Given the description of an element on the screen output the (x, y) to click on. 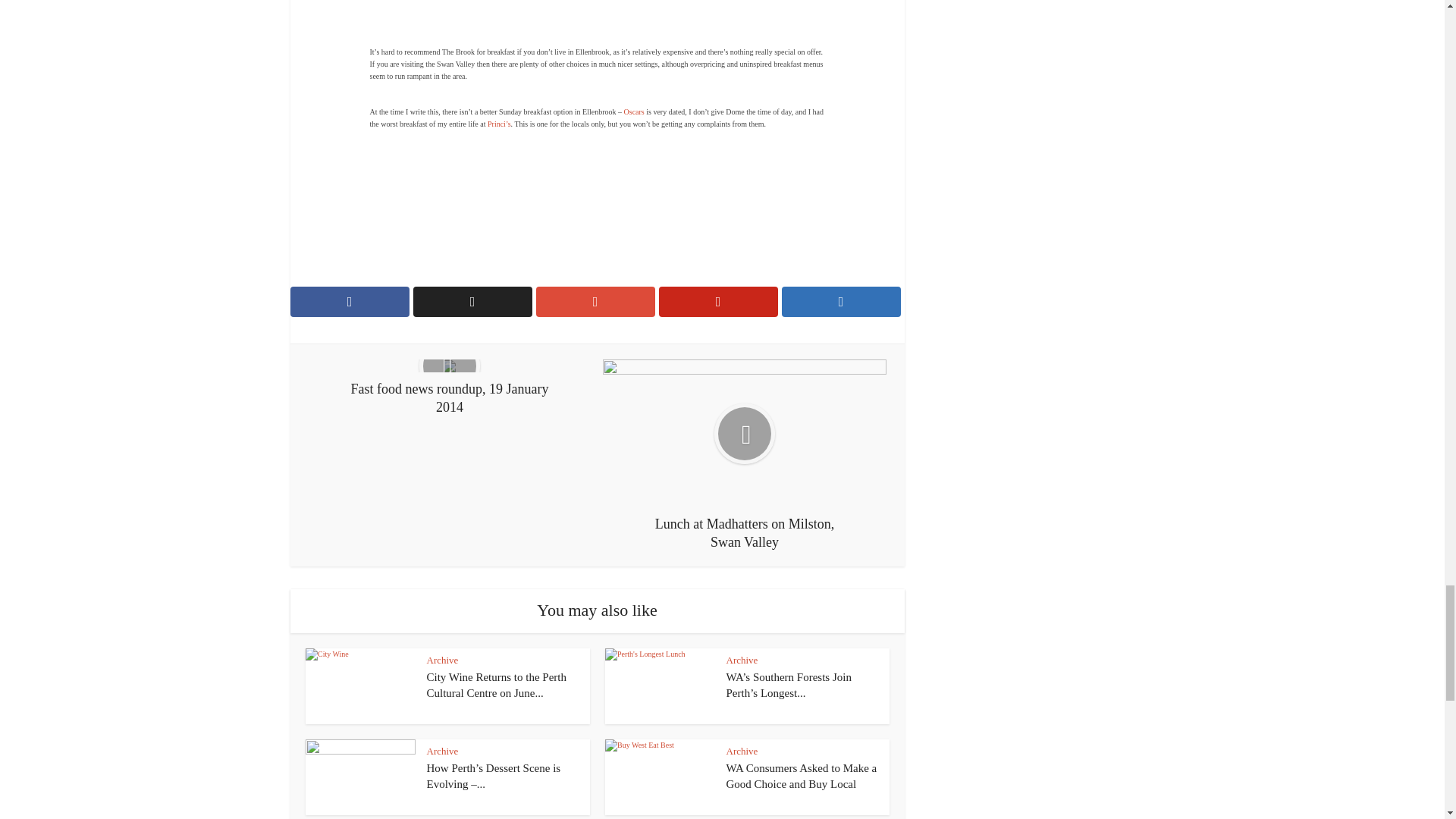
WA Consumers Asked to Make a Good Choice and Buy Local (801, 775)
Oscars (634, 111)
Princi's (499, 123)
